Given the description of an element on the screen output the (x, y) to click on. 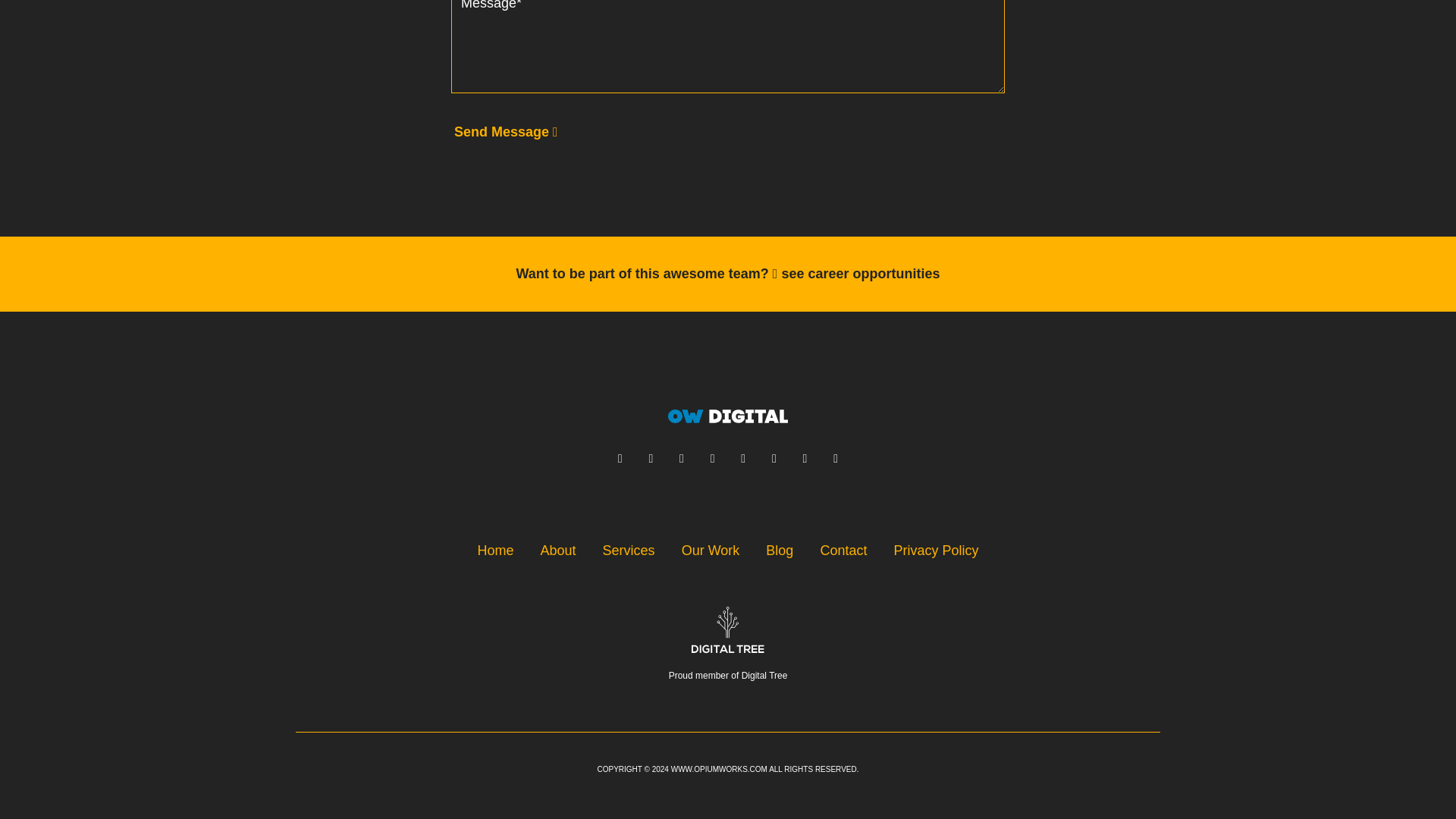
Home (727, 415)
